Given the description of an element on the screen output the (x, y) to click on. 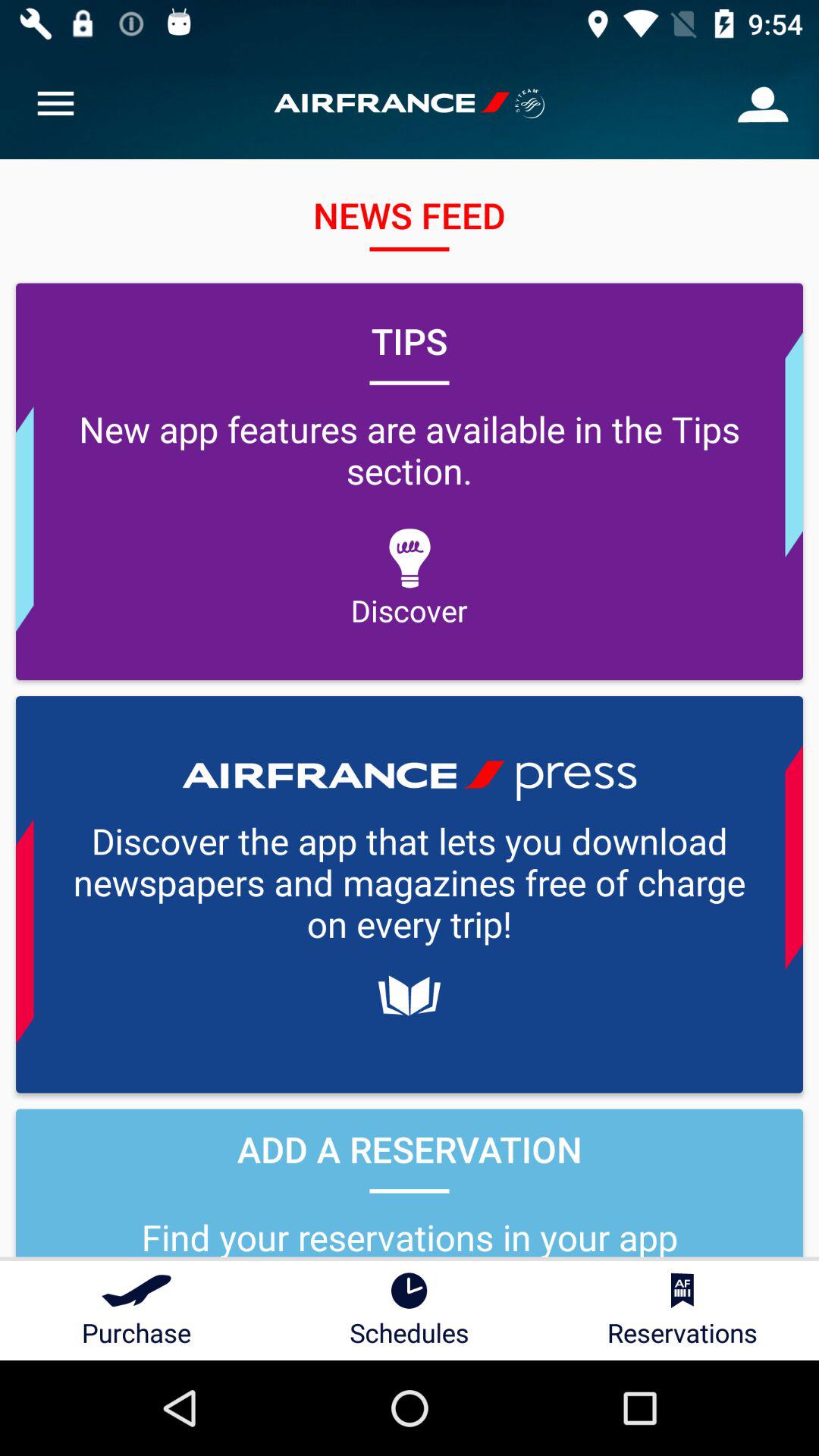
jump to the schedules item (409, 1310)
